Given the description of an element on the screen output the (x, y) to click on. 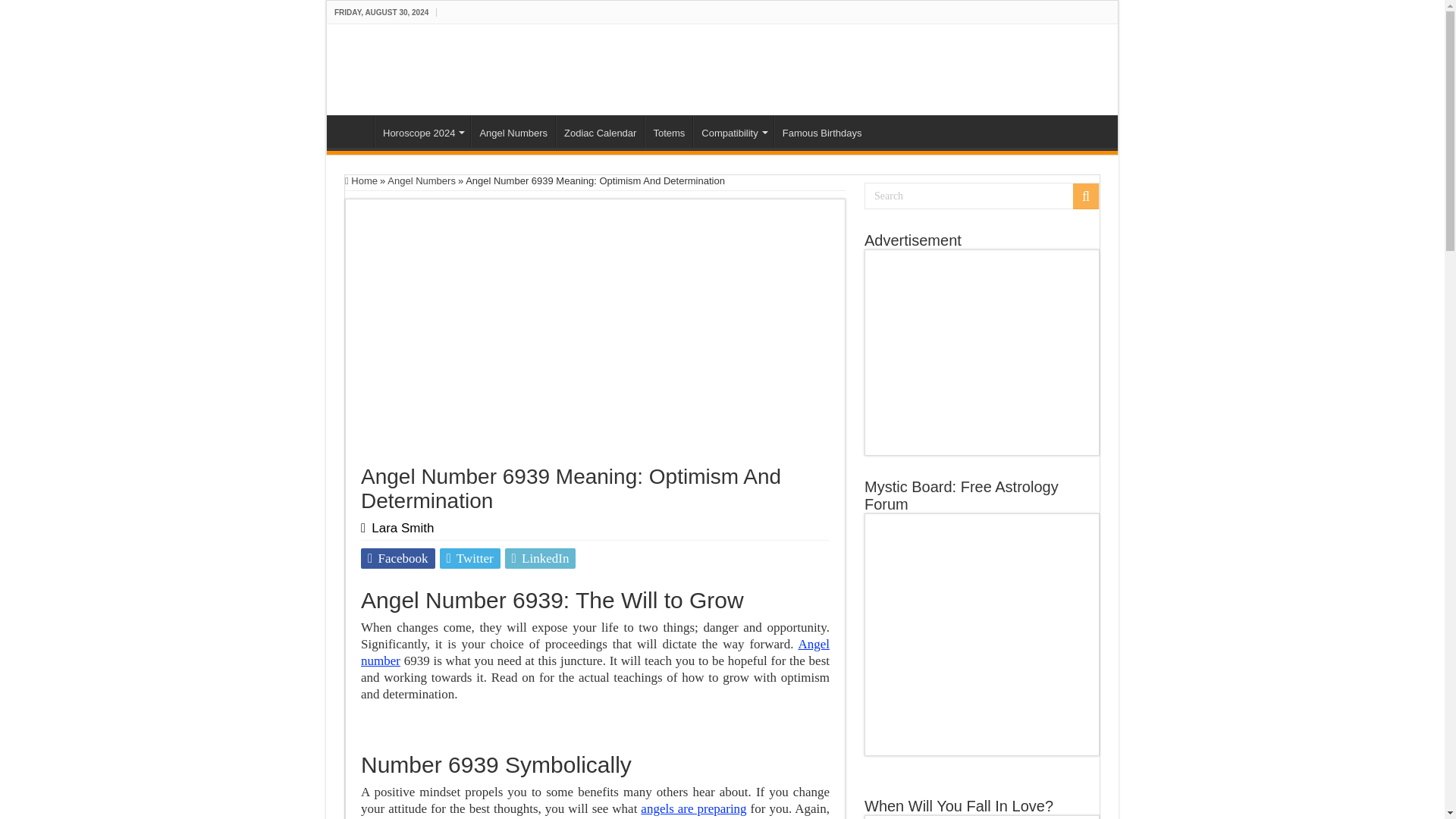
Compatibility (733, 131)
Zodiac Calendar (599, 131)
Angel Numbers (421, 180)
Angel Numbers (512, 131)
Twitter (469, 557)
Zodiac Calendar (599, 131)
Angel number (595, 652)
Search (981, 195)
Facebook (398, 557)
